Given the description of an element on the screen output the (x, y) to click on. 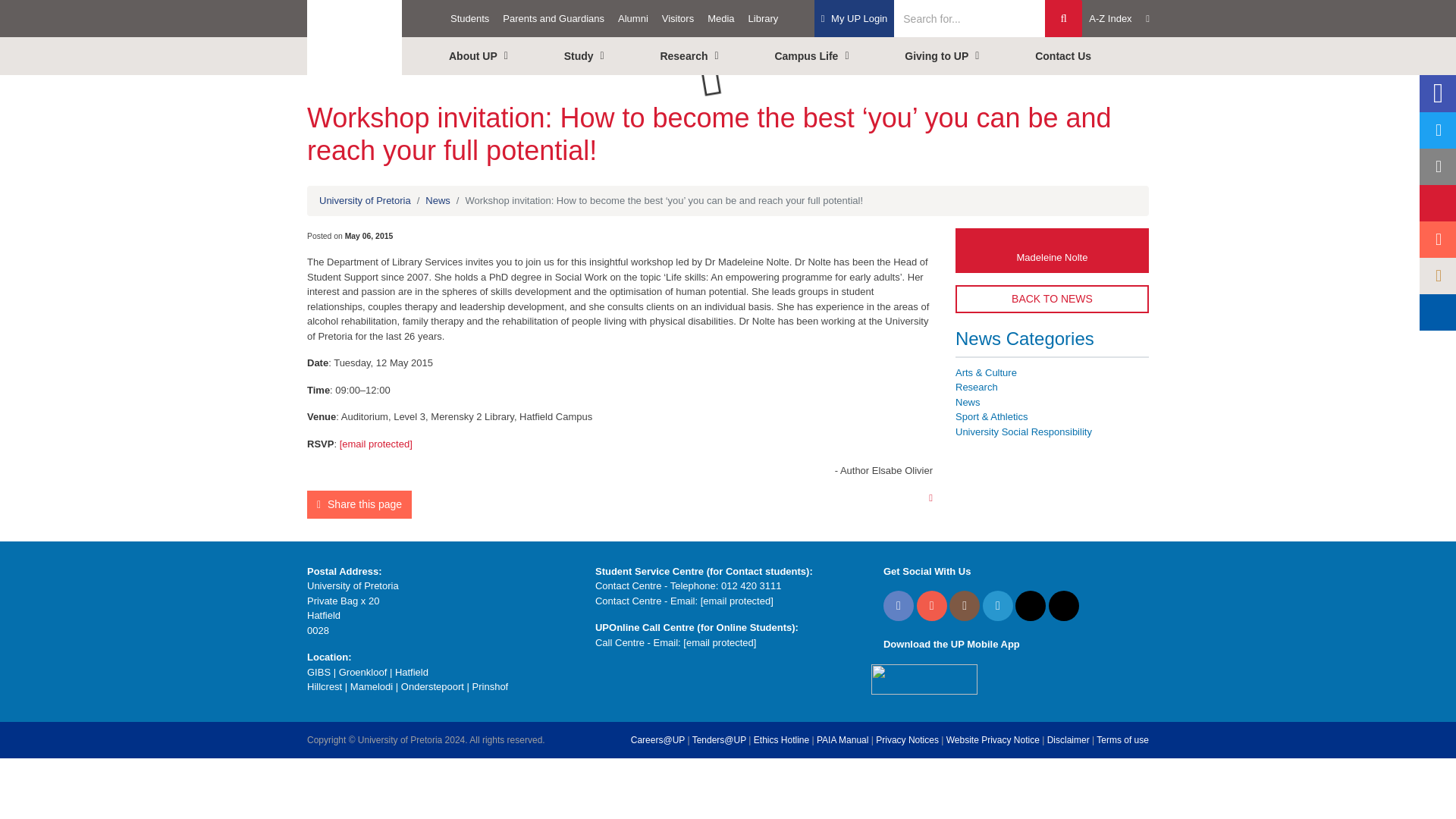
Study (602, 55)
Parents and Guardians (553, 18)
Library (763, 18)
My UP Login (854, 18)
Students (470, 18)
A-Z Index (1118, 18)
Alumni (633, 18)
Visitors (677, 18)
About UP (496, 55)
Media (720, 18)
